Given the description of an element on the screen output the (x, y) to click on. 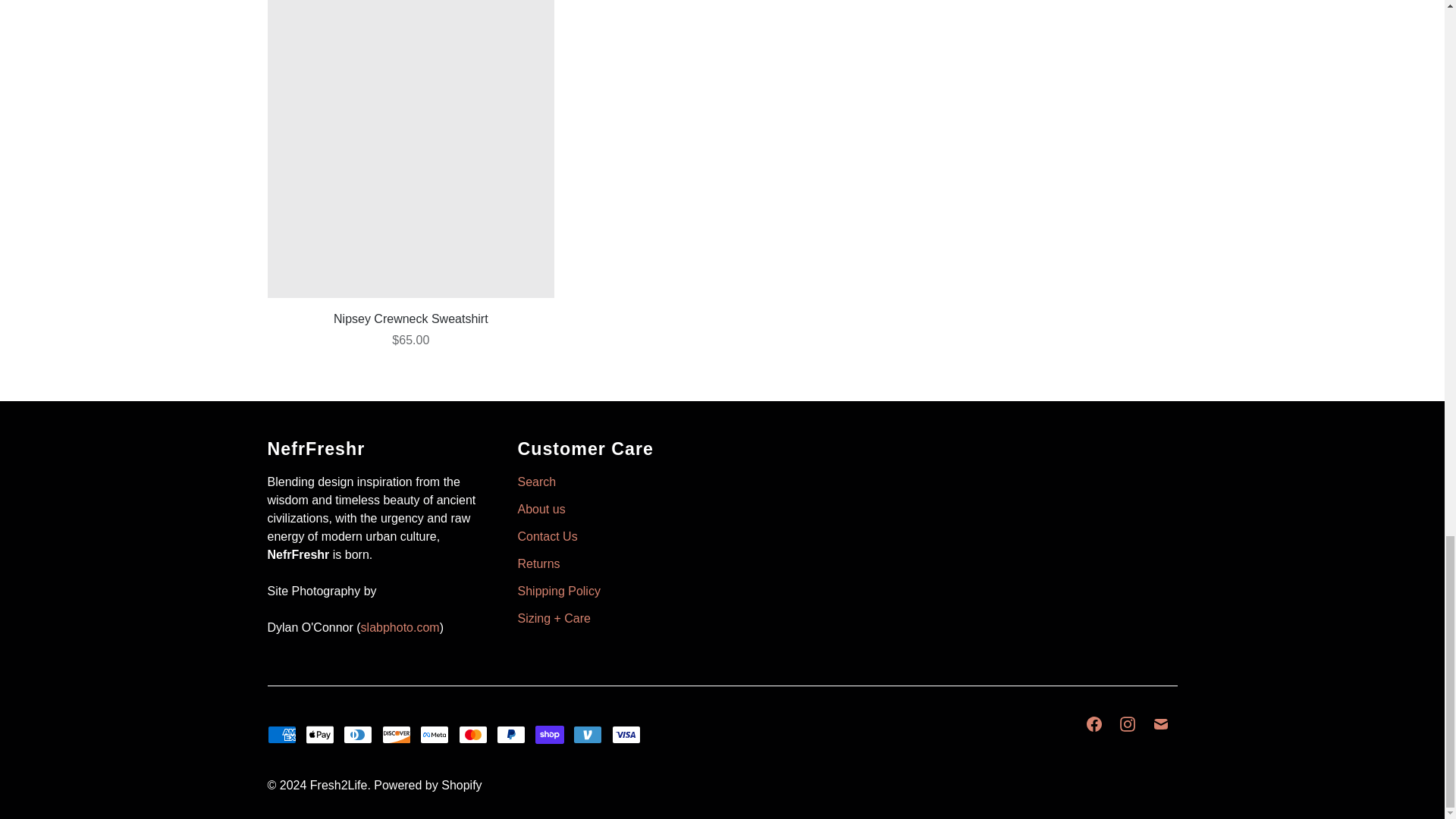
Mastercard (472, 734)
Shop Pay (549, 734)
American Express (280, 734)
Visa (625, 734)
Diners Club (357, 734)
Venmo (587, 734)
PayPal (510, 734)
Discover (395, 734)
Apple Pay (319, 734)
Meta Pay (434, 734)
